Given the description of an element on the screen output the (x, y) to click on. 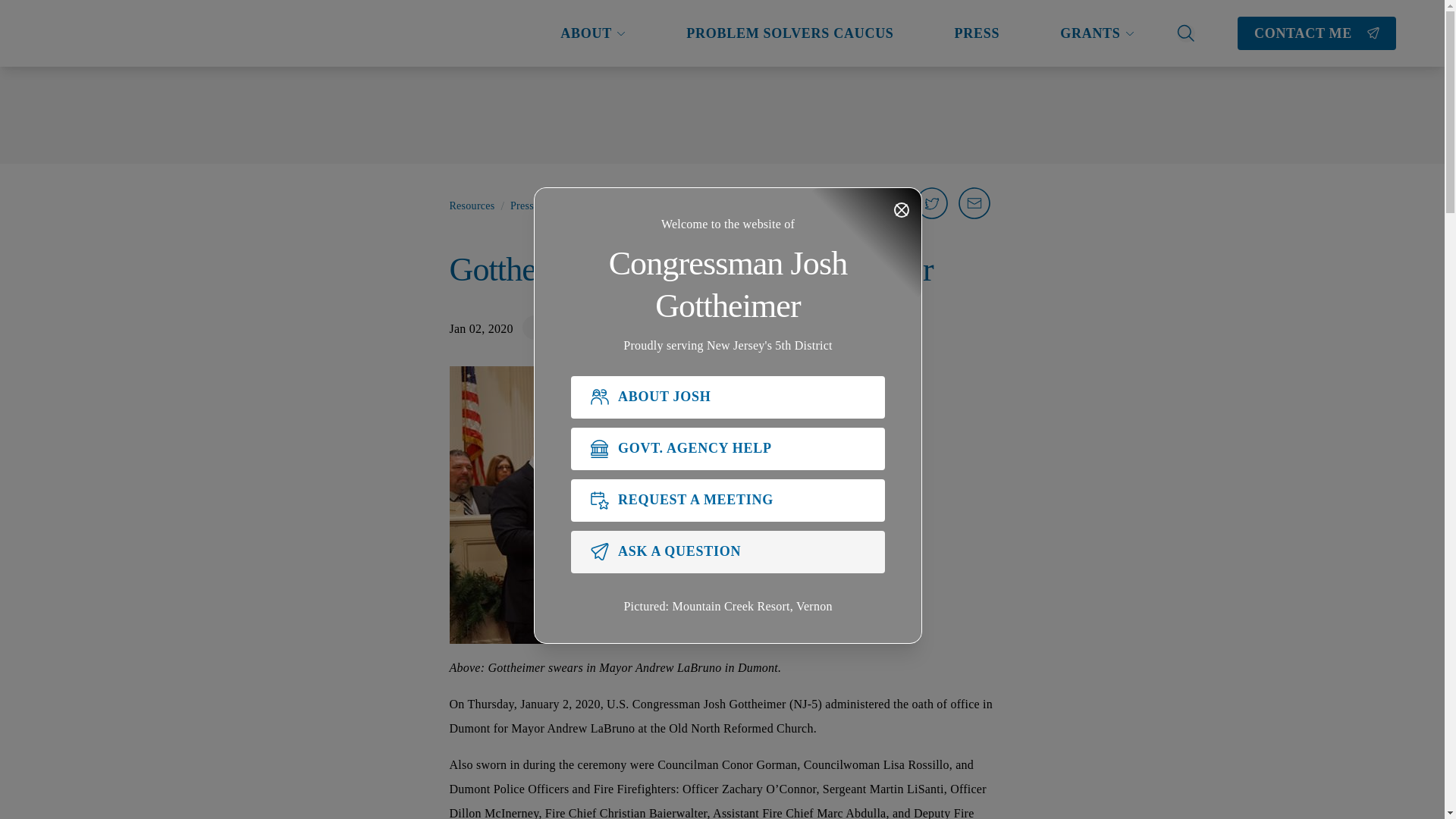
REQUEST A MEETING (727, 500)
ASK A QUESTION (727, 551)
Press (522, 206)
GOVT. AGENCY HELP (727, 448)
Resources (471, 206)
PRESS (977, 33)
GRANTS (1096, 33)
ABOUT (592, 33)
CONTACT ME (1316, 32)
PROBLEM SOLVERS CAUCUS (789, 33)
